Given the description of an element on the screen output the (x, y) to click on. 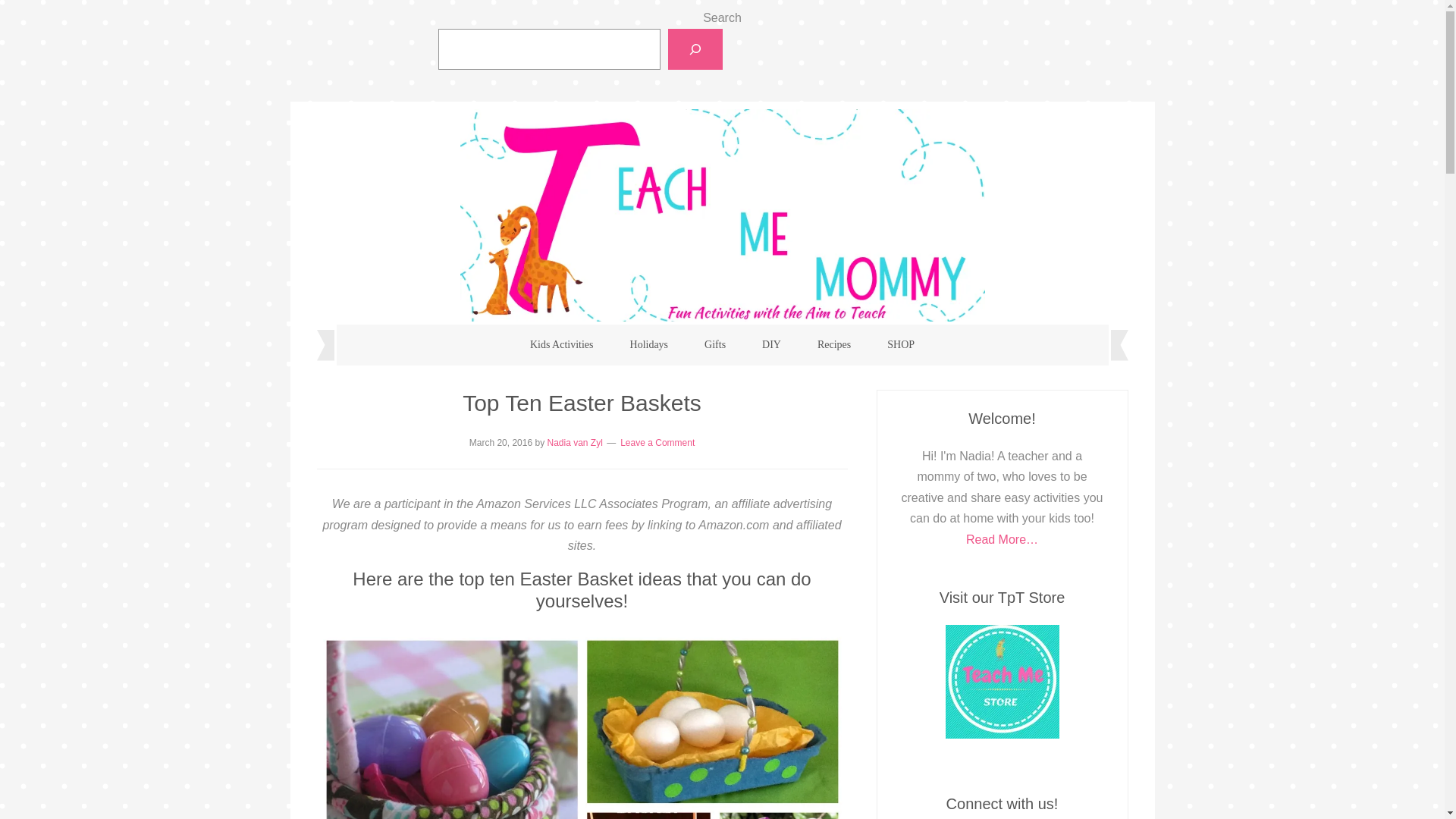
Kids Activities (561, 344)
Leave a Comment (657, 442)
SHOP (901, 344)
Nadia van Zyl (574, 442)
Holidays (649, 344)
Recipes (834, 344)
DIY (771, 344)
Gifts (714, 344)
